Given the description of an element on the screen output the (x, y) to click on. 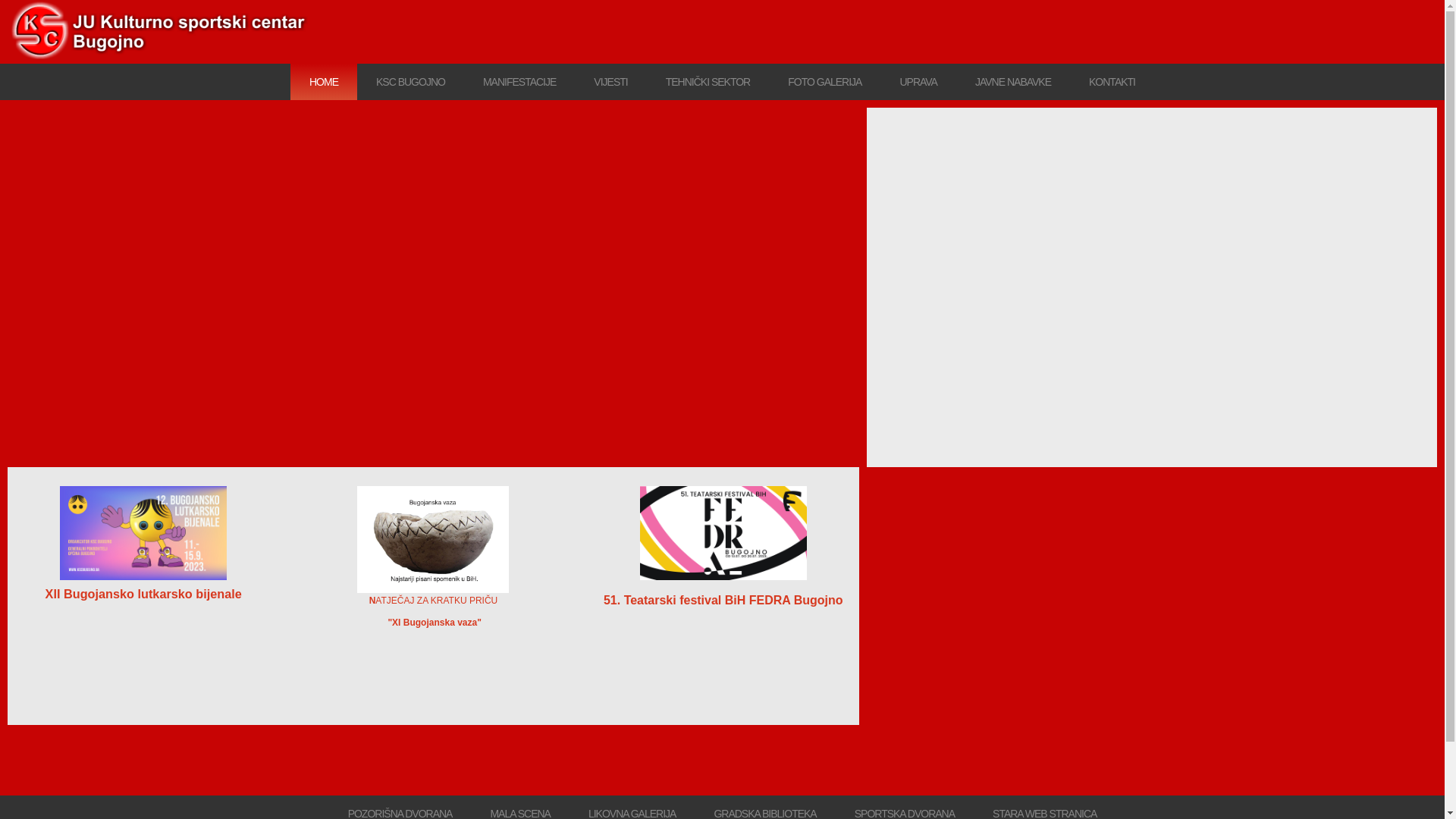
HOME Element type: text (323, 81)
XII Bugojansko lutkarsko bijenale Element type: text (143, 593)
MANIFESTACIJE Element type: text (519, 81)
KSC BUGOJNO Element type: text (410, 81)
51. Teatarski festival BiH FEDRA Bugojno Element type: text (723, 599)
VIJESTI Element type: text (610, 81)
UPRAVA Element type: text (918, 81)
KONTAKTI Element type: text (1112, 81)
JAVNE NABAVKE Element type: text (1013, 81)
FOTO GALERIJA Element type: text (824, 81)
 "XI Bugojanska vaza" Element type: text (433, 622)
